Given the description of an element on the screen output the (x, y) to click on. 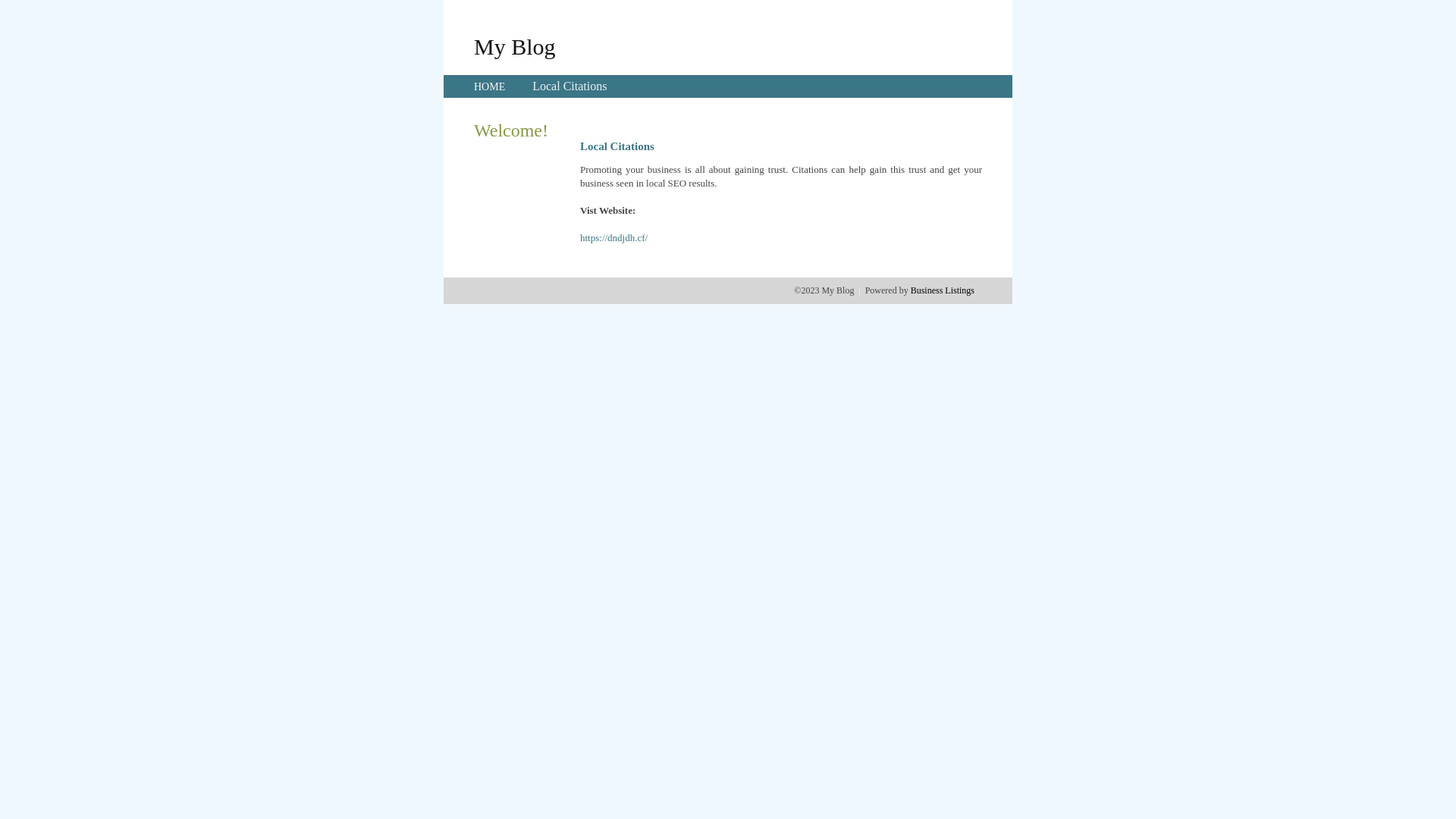
Local Citations Element type: text (569, 85)
HOME Element type: text (489, 86)
My Blog Element type: text (514, 46)
Business Listings Element type: text (942, 290)
https://dndjdh.cf/ Element type: text (613, 237)
